Given the description of an element on the screen output the (x, y) to click on. 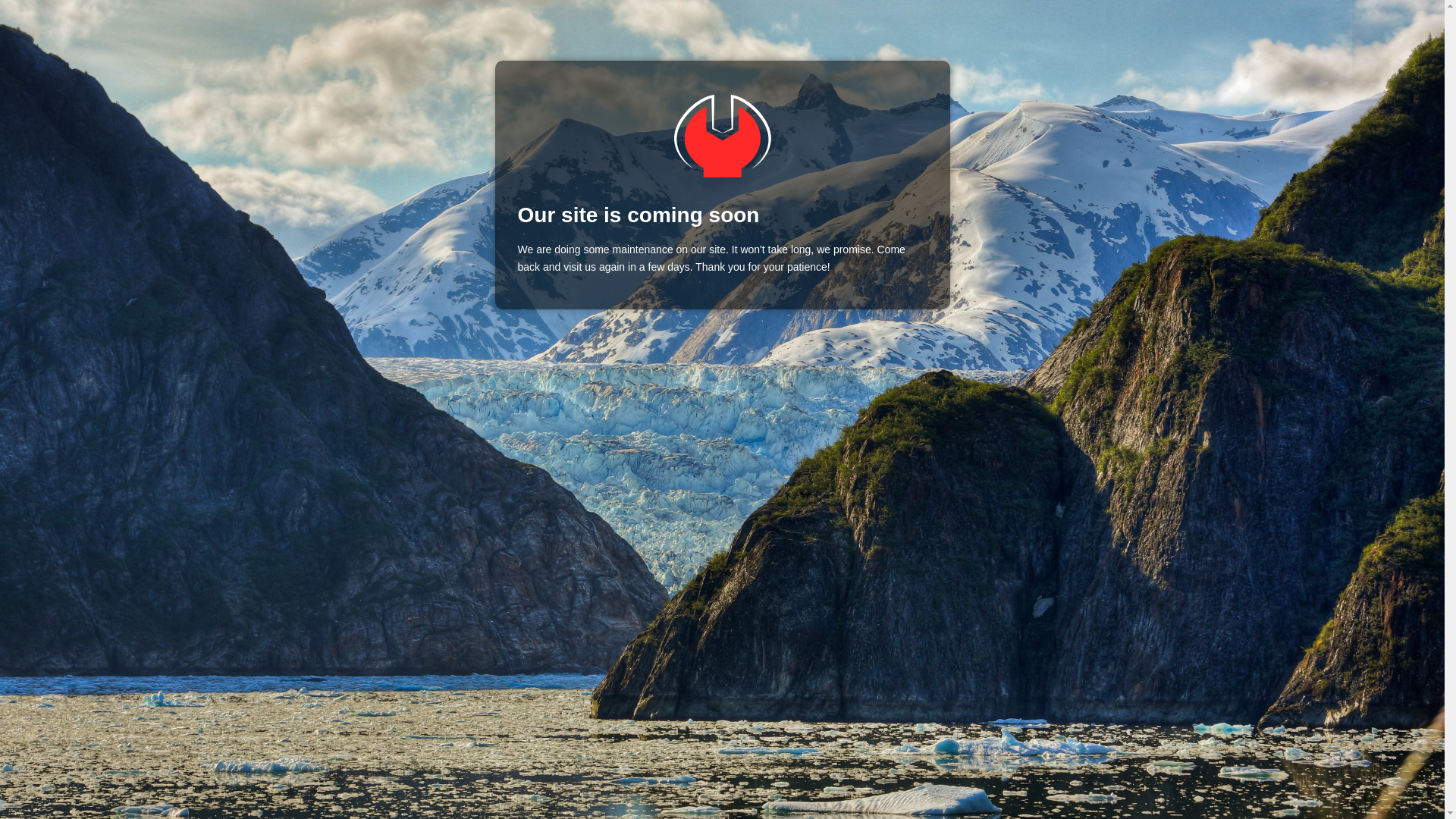
Autovista24 (721, 136)
